Given the description of an element on the screen output the (x, y) to click on. 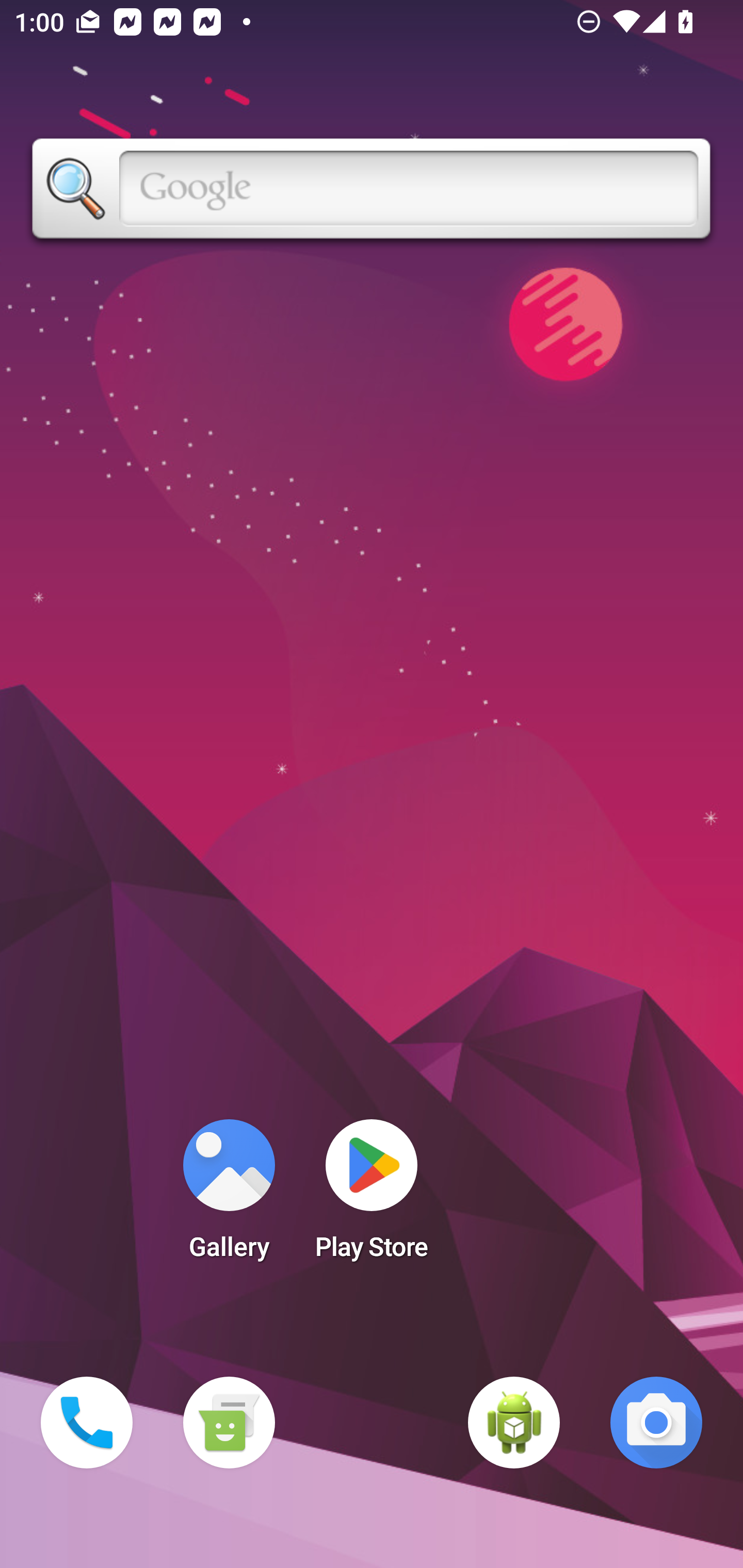
Gallery (228, 1195)
Play Store (371, 1195)
Phone (86, 1422)
Messaging (228, 1422)
WebView Browser Tester (513, 1422)
Camera (656, 1422)
